Given the description of an element on the screen output the (x, y) to click on. 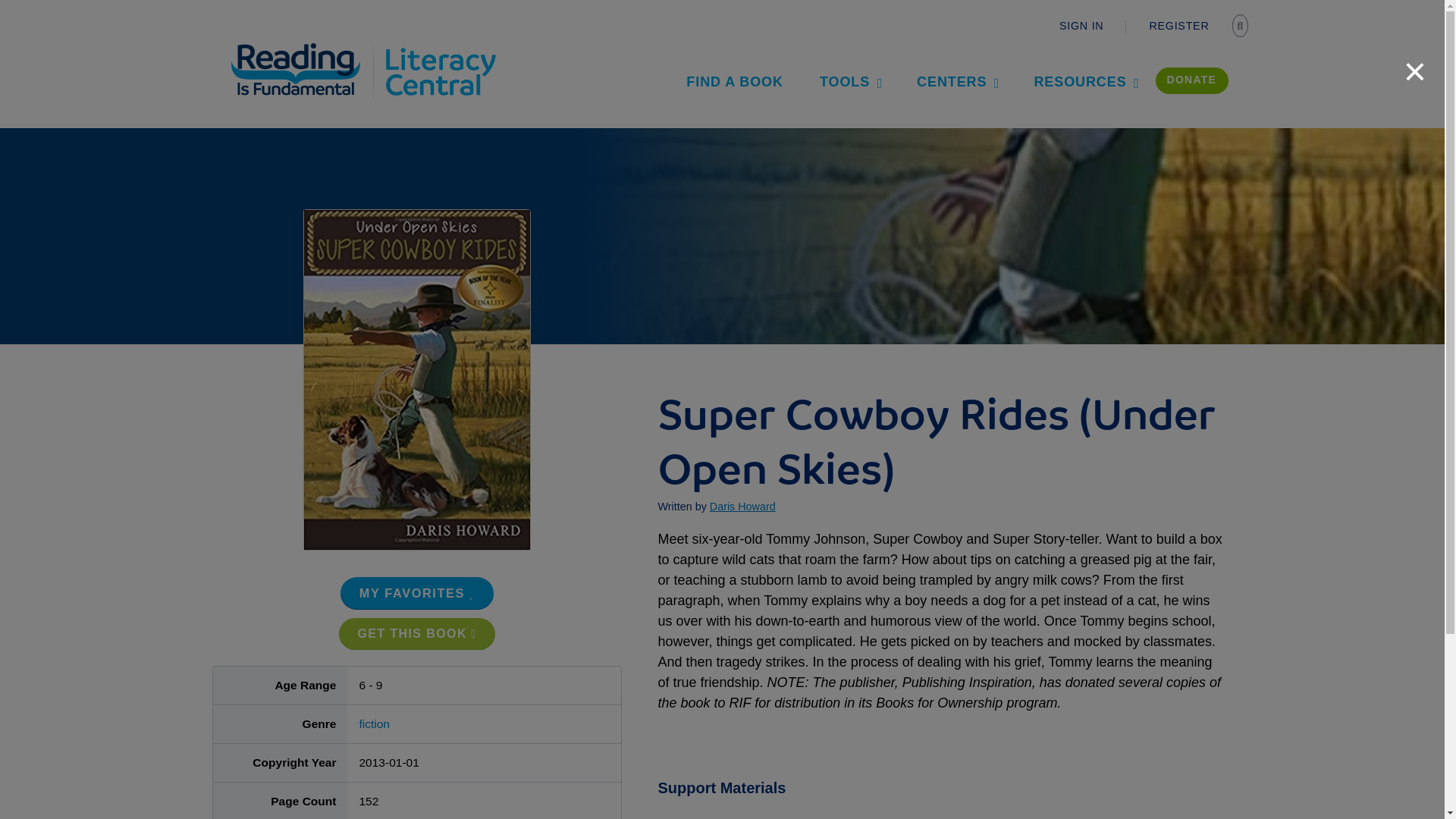
SIGN IN (1081, 26)
Literacy Central Home (440, 47)
TOOLS (850, 81)
FIND A BOOK (735, 81)
DONATE (1192, 80)
RESOURCES (1084, 81)
SEARCH (1242, 26)
CENTERS (956, 81)
Home (305, 47)
REGISTER (1178, 26)
